Given the description of an element on the screen output the (x, y) to click on. 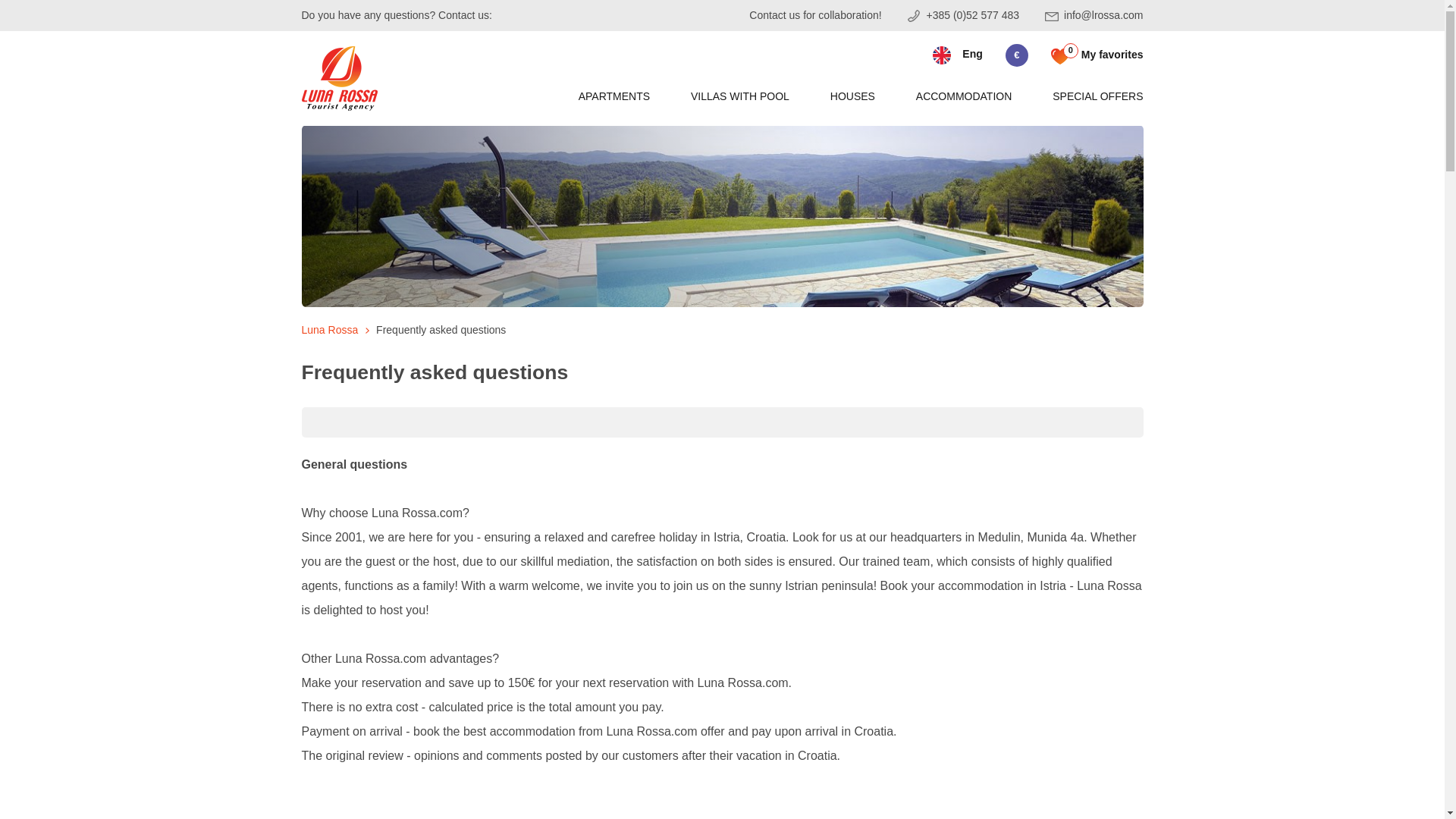
VILLAS WITH POOL (739, 96)
Contact us for collaboration! (805, 15)
APARTMENTS (613, 96)
